Given the description of an element on the screen output the (x, y) to click on. 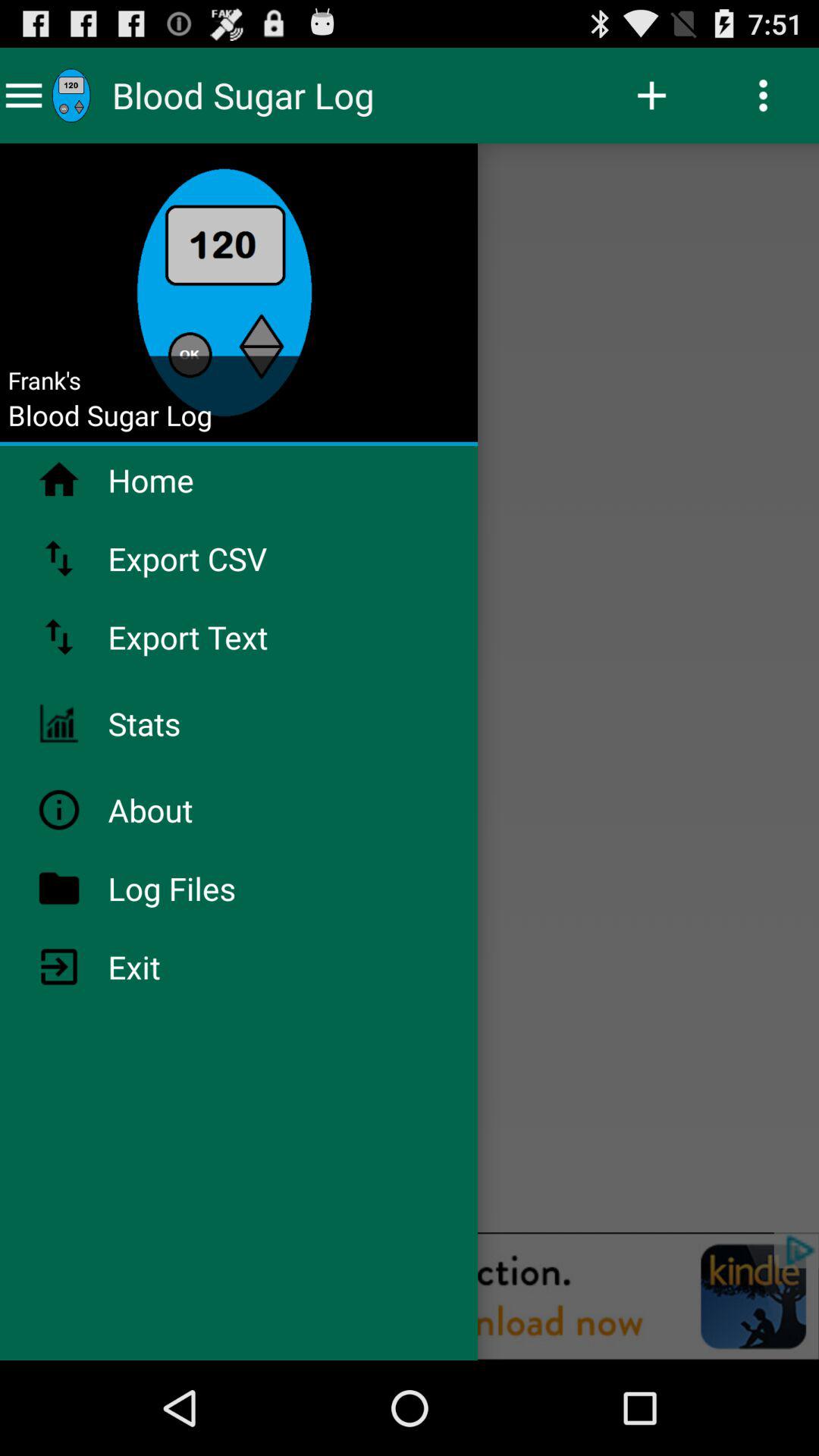
press the item below the log files item (174, 966)
